Given the description of an element on the screen output the (x, y) to click on. 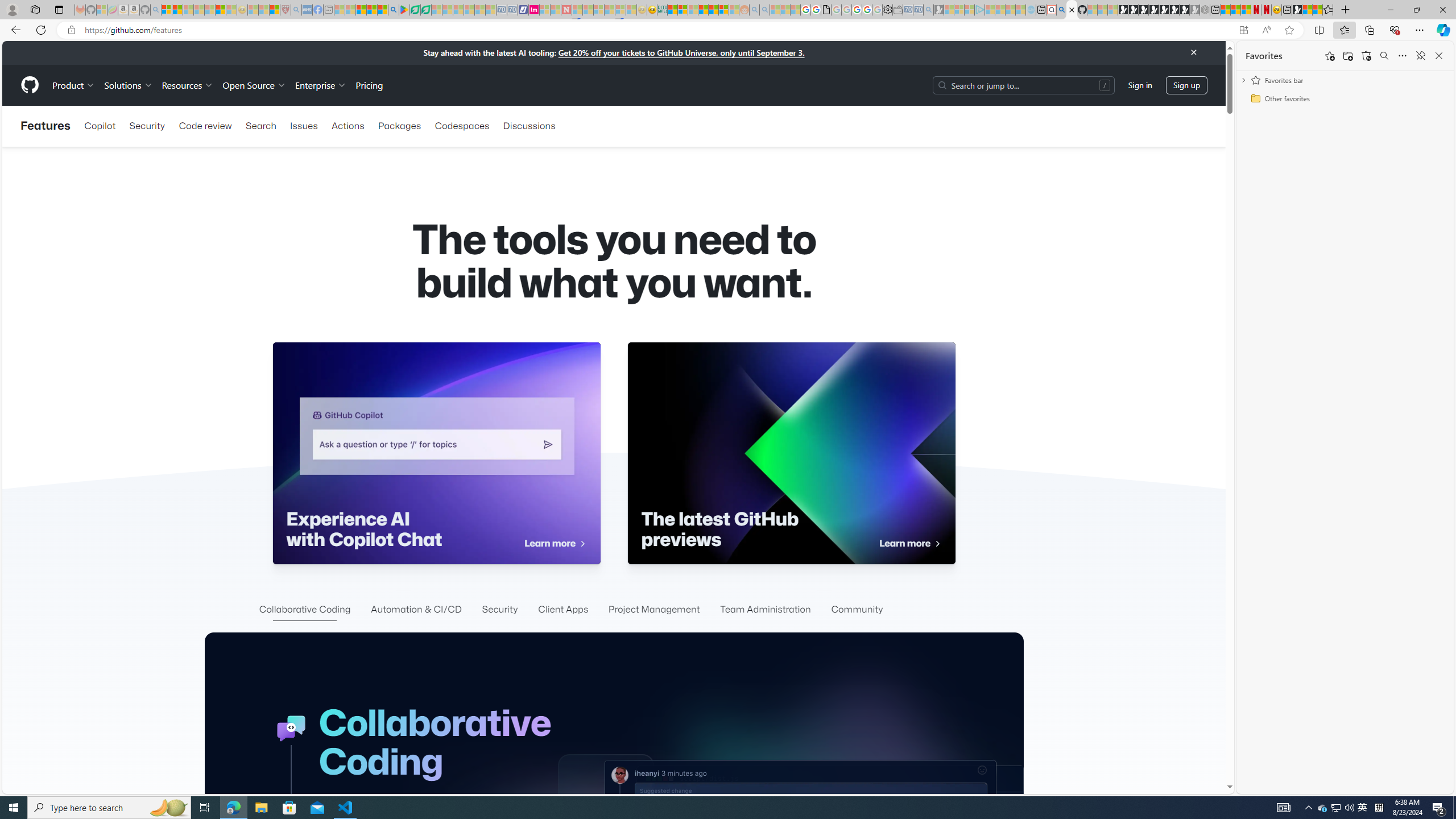
Local - MSN (274, 9)
